Given the description of an element on the screen output the (x, y) to click on. 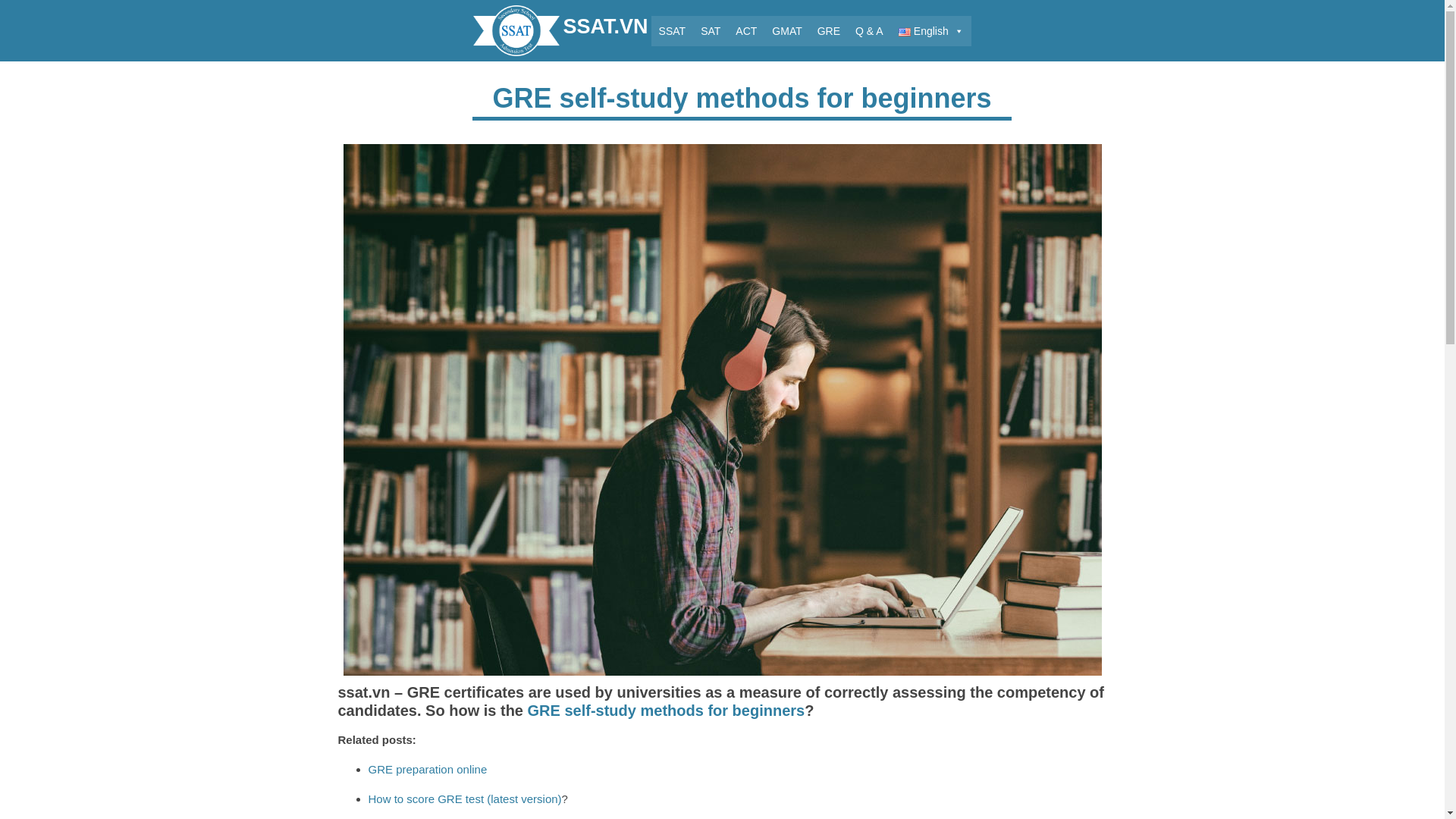
English (931, 30)
GRE self-study methods for beginners (666, 710)
GRE self-study methods for beginners (721, 408)
GMAT (786, 30)
ACT (746, 30)
GRE preparation online (427, 768)
SSAT (672, 30)
SAT (710, 30)
SSAT.VN (560, 29)
GRE (828, 30)
